Given the description of an element on the screen output the (x, y) to click on. 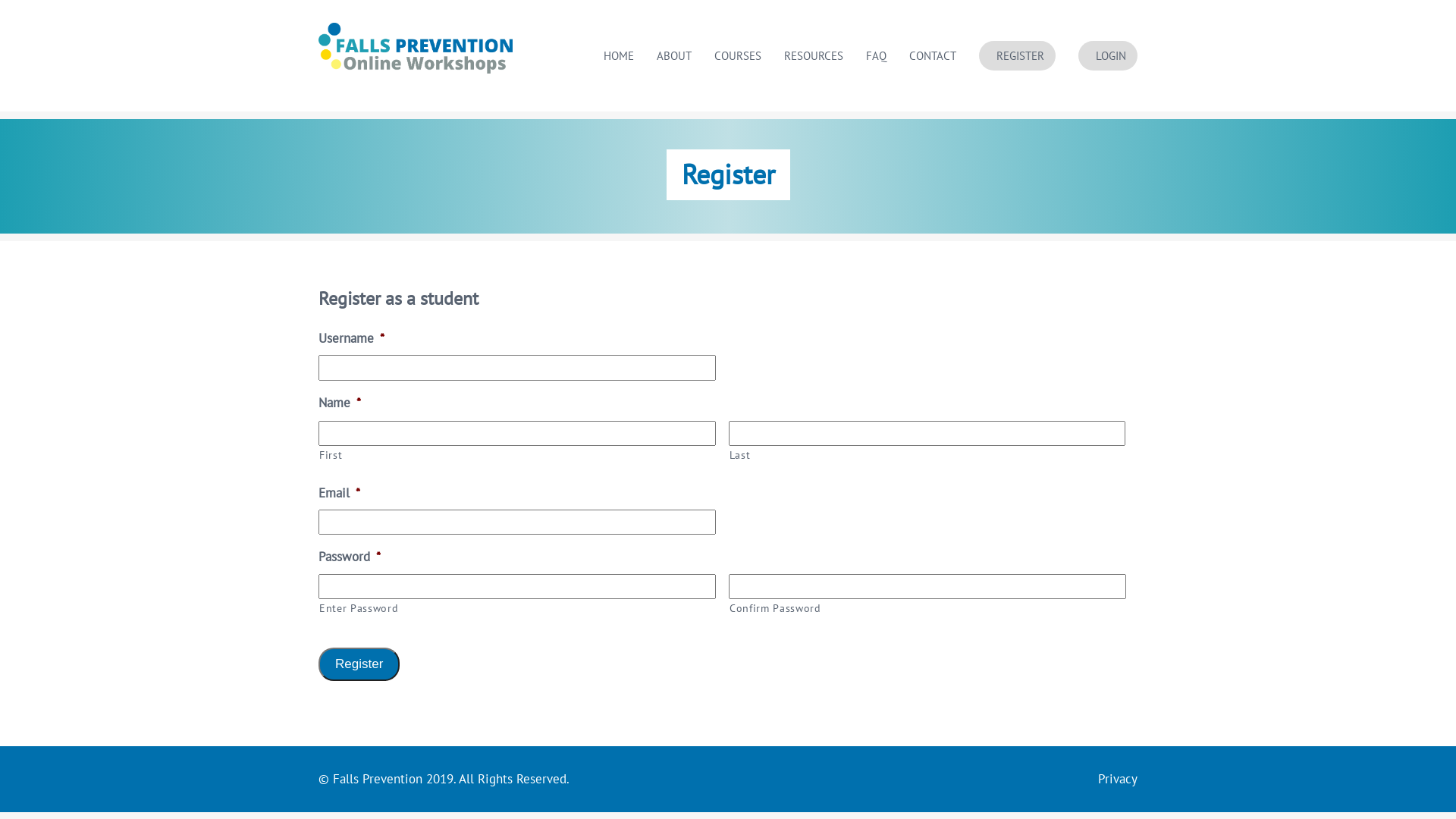
FAQ Element type: text (876, 55)
LOGIN Element type: text (1107, 55)
Register Element type: text (358, 663)
COURSES Element type: text (737, 55)
ABOUT Element type: text (673, 55)
Privacy Element type: text (1117, 778)
CONTACT Element type: text (932, 55)
REGISTER Element type: text (1017, 55)
RESOURCES Element type: text (813, 55)
HOME Element type: text (618, 55)
